Given the description of an element on the screen output the (x, y) to click on. 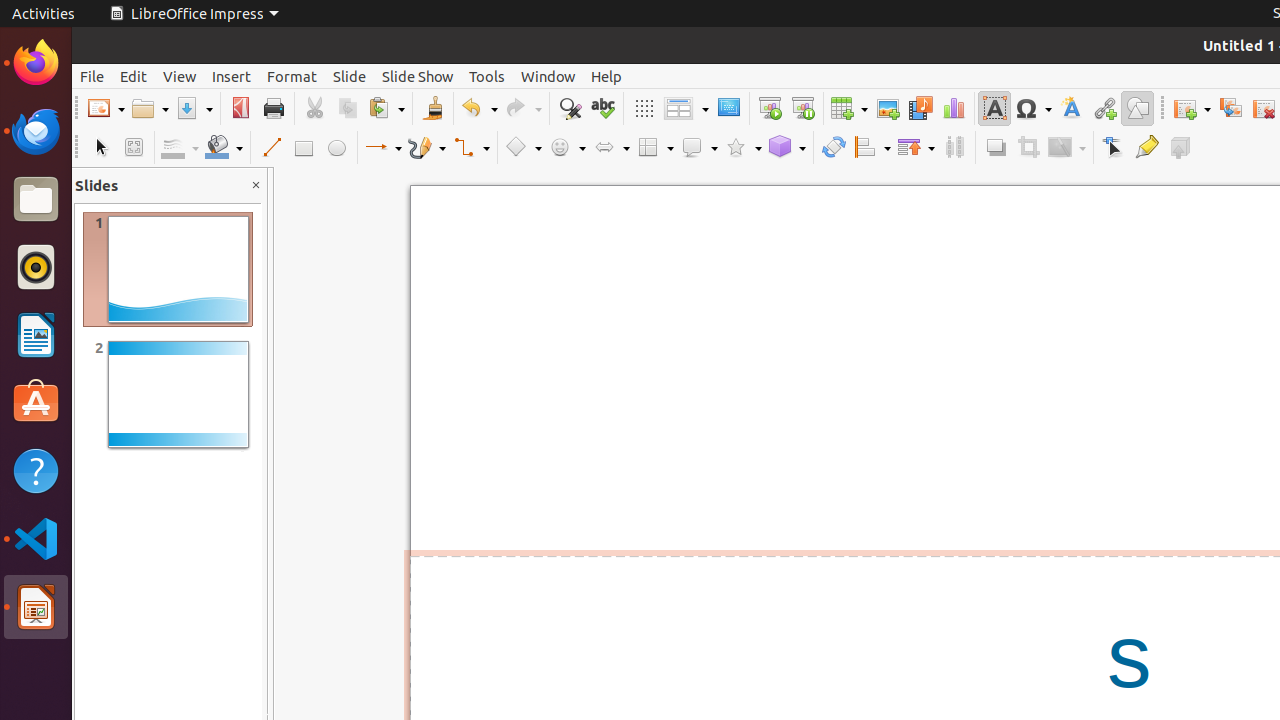
Draw Functions Element type: toggle-button (1137, 108)
Shadow Element type: toggle-button (995, 147)
File Element type: menu (92, 76)
Connectors Element type: push-button (471, 147)
Crop Element type: push-button (1028, 147)
